Given the description of an element on the screen output the (x, y) to click on. 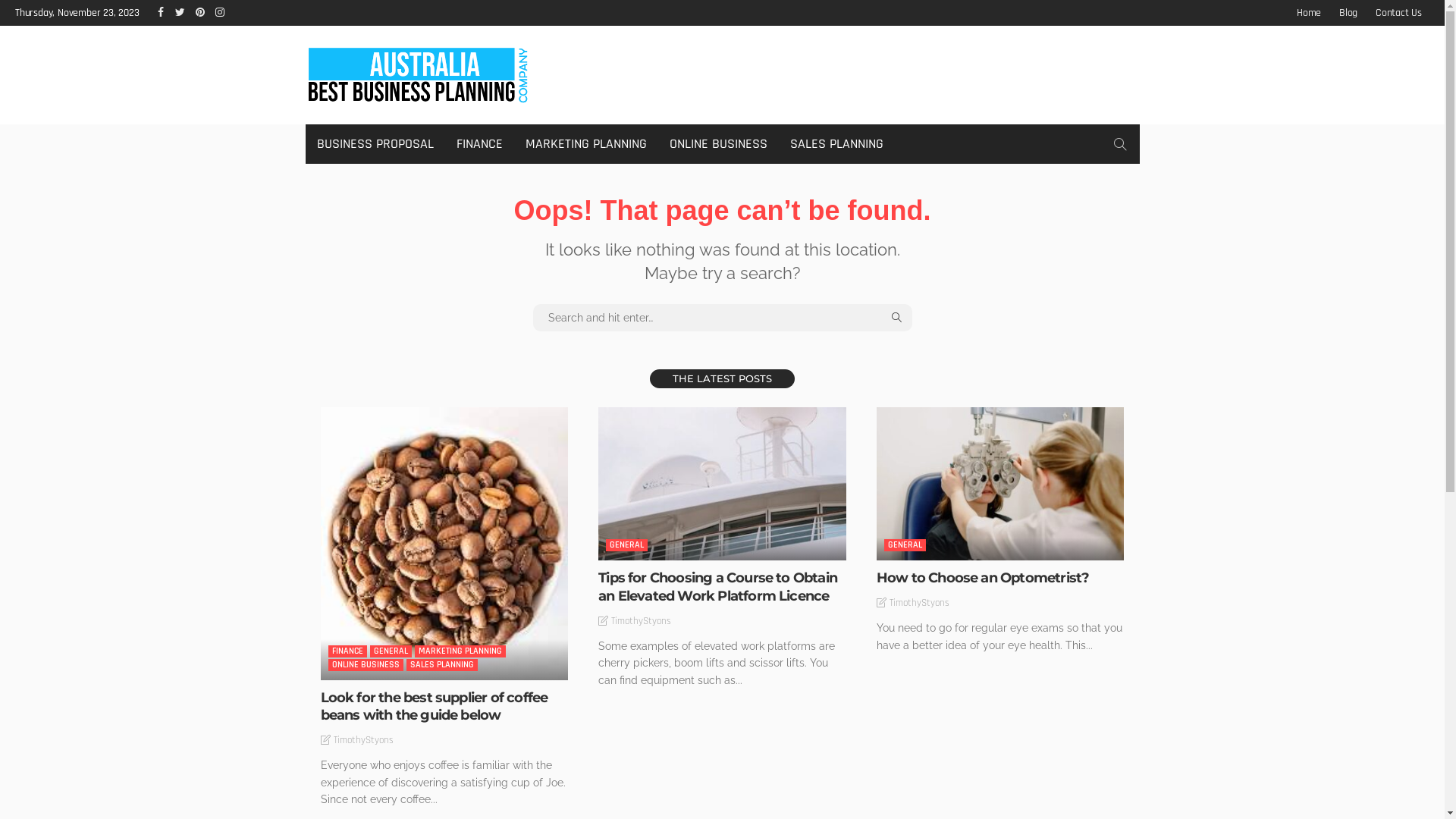
How to Choose an Optometrist? Element type: hover (1000, 483)
search Element type: hover (1119, 143)
MARKETING PLANNING Element type: text (459, 651)
search for: Element type: hover (721, 317)
GENERAL Element type: text (904, 545)
TimothyStyons Element type: text (919, 602)
GENERAL Element type: text (390, 651)
SALES PLANNING Element type: text (441, 664)
ONLINE BUSINESS Element type: text (718, 143)
Home Element type: text (1308, 12)
FINANCE Element type: text (478, 143)
GENERAL Element type: text (626, 545)
ONLINE BUSINESS Element type: text (364, 664)
MARKETING PLANNING Element type: text (586, 143)
TimothyStyons Element type: text (363, 739)
How to Choose an Optometrist? Element type: text (982, 577)
FINANCE Element type: text (346, 651)
TimothyStyons Element type: text (641, 620)
Contact Us Element type: text (1398, 12)
SALES PLANNING Element type: text (836, 143)
BUSINESS PROPOSAL Element type: text (374, 143)
Blog Element type: text (1348, 12)
